Given the description of an element on the screen output the (x, y) to click on. 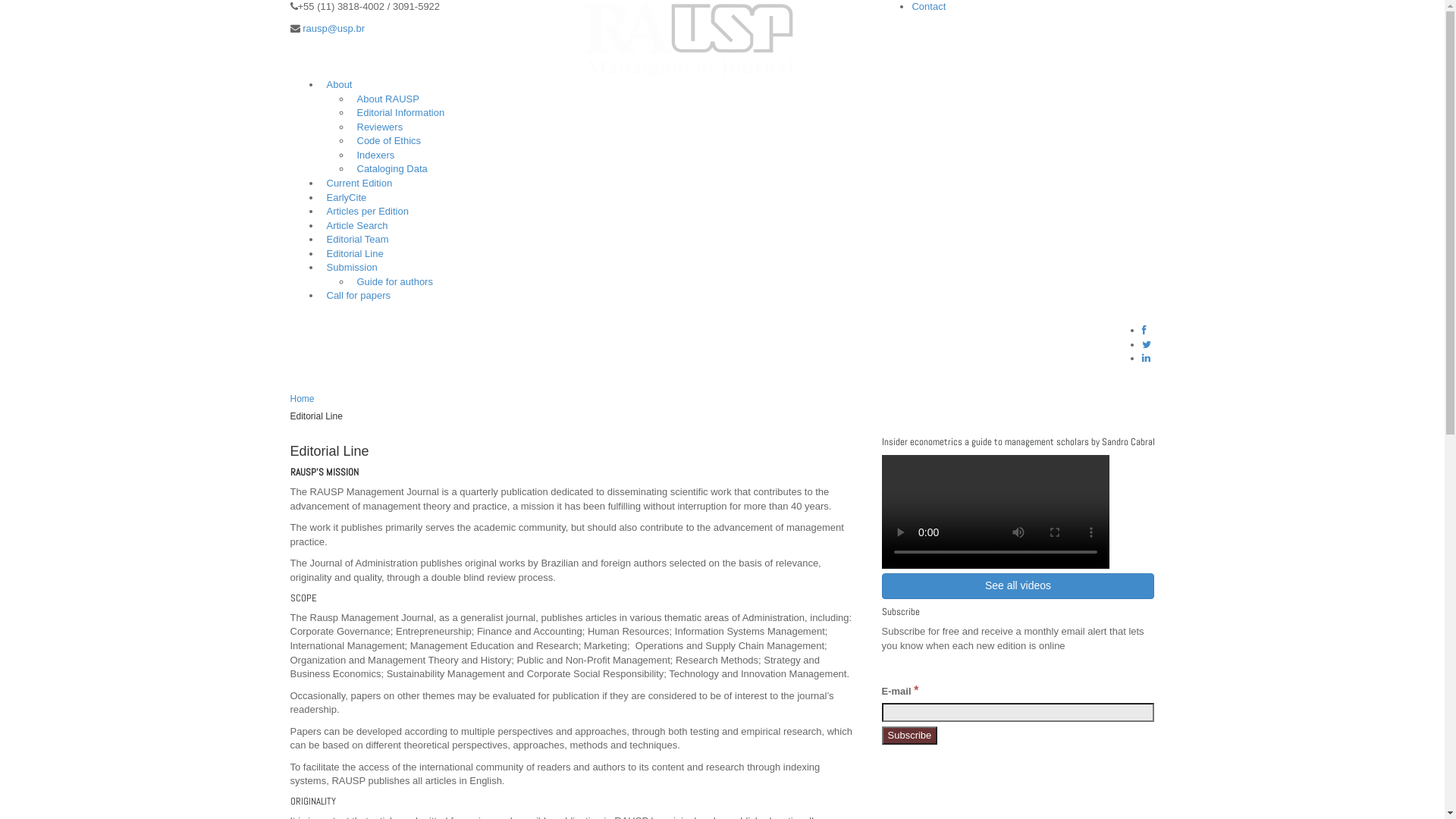
rausp@usp.br Element type: text (333, 28)
Editorial Team Element type: text (357, 238)
Call for papers Element type: text (358, 294)
About RAUSP Element type: text (387, 98)
See all videos Element type: text (1017, 586)
Current Edition Element type: text (359, 182)
Indexers Element type: text (375, 154)
Subscribe Element type: text (909, 735)
Code of Ethics Element type: text (388, 140)
EarlyCite Element type: text (346, 197)
Reviewers Element type: text (379, 126)
Guide for authors Element type: text (394, 281)
Cataloging Data Element type: text (391, 168)
Article Search Element type: text (356, 225)
Articles per Edition Element type: text (367, 210)
Submission Element type: text (351, 266)
Contact Element type: text (928, 6)
Editorial Line Element type: text (354, 253)
Home Element type: text (301, 398)
Editorial Information Element type: text (400, 112)
LinkedIn Element type: hover (1146, 358)
About Element type: text (338, 84)
Facebook Element type: hover (1144, 329)
Twitter Element type: hover (1146, 344)
Rausp Management Journal Element type: hover (689, 37)
